Given the description of an element on the screen output the (x, y) to click on. 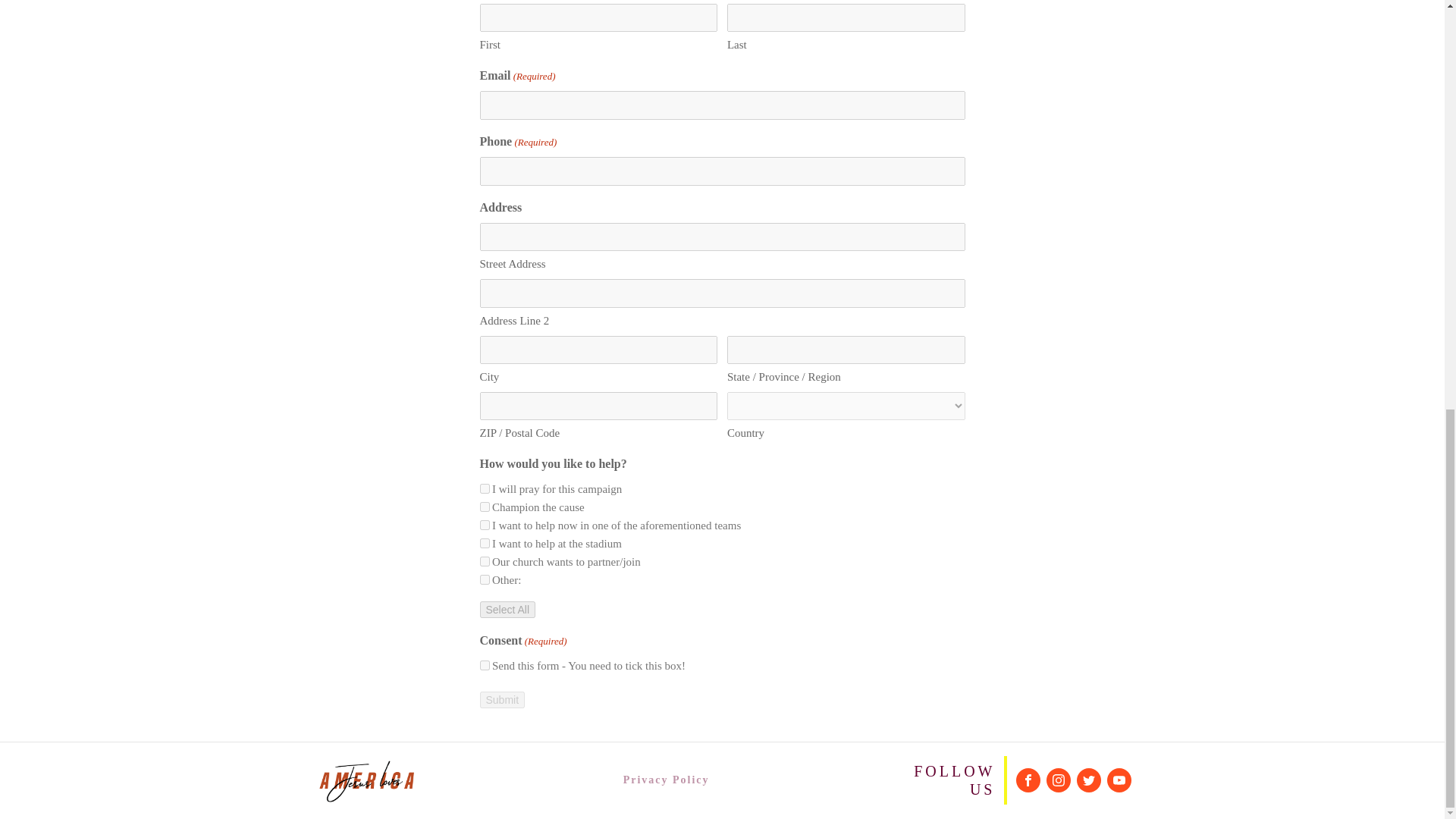
I will pray for this campaign (484, 488)
I want to help at the stadium (484, 542)
Privacy Policy (666, 780)
Submit (501, 699)
Select All (507, 609)
Send this form - You need to tick this box! (484, 665)
Other: (484, 579)
Champion the cause (484, 506)
I want to help now in one of the aforementioned teams (484, 524)
Submit (501, 699)
